Given the description of an element on the screen output the (x, y) to click on. 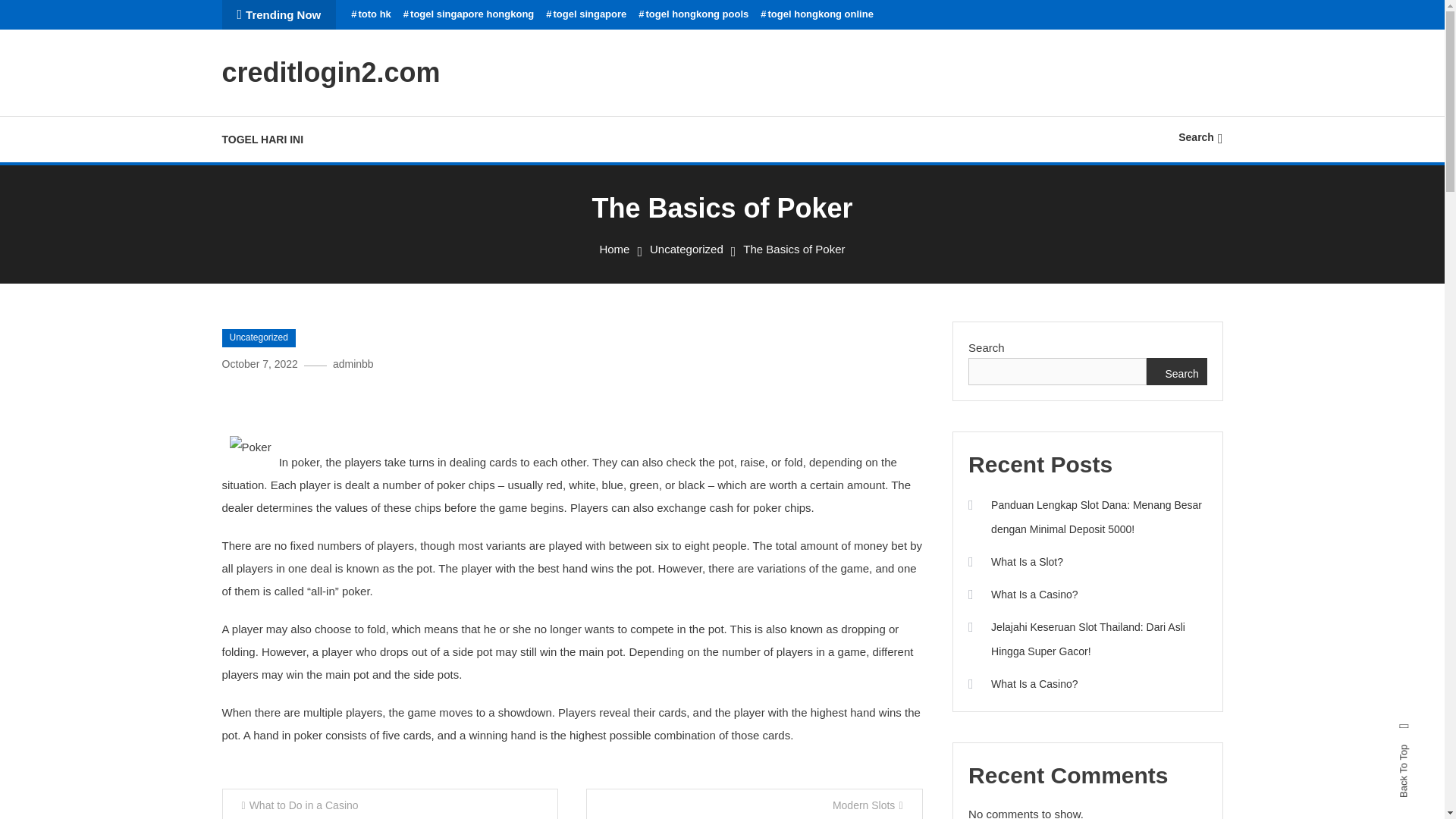
What to Do in a Casino (389, 803)
Modern Slots (754, 803)
adminbb (353, 363)
What Is a Slot? (1015, 561)
toto hk (370, 13)
October 7, 2022 (259, 363)
togel hongkong online (816, 13)
Home (613, 248)
Search (1177, 370)
